Given the description of an element on the screen output the (x, y) to click on. 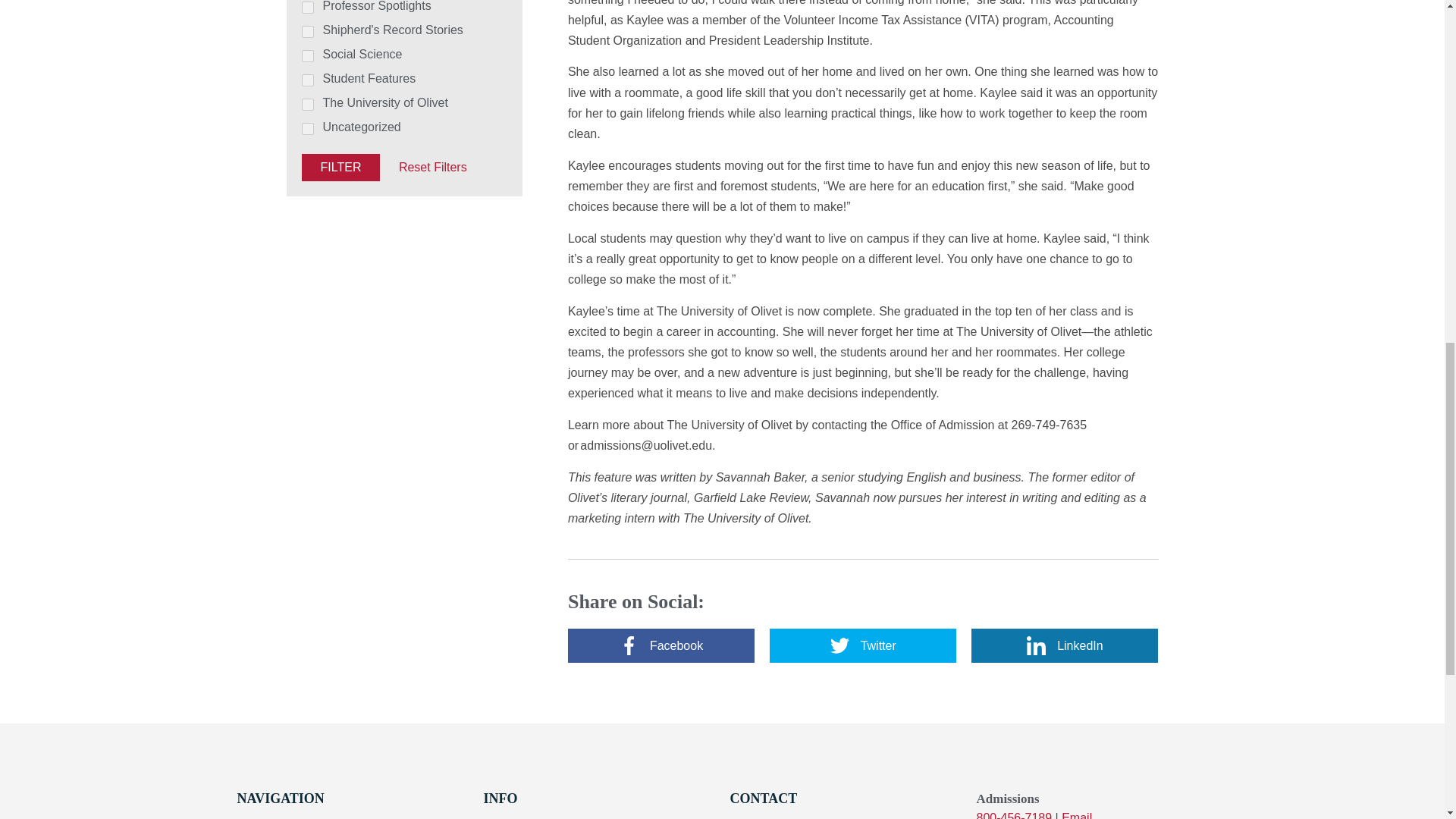
56 (307, 31)
163 (307, 7)
